Given the description of an element on the screen output the (x, y) to click on. 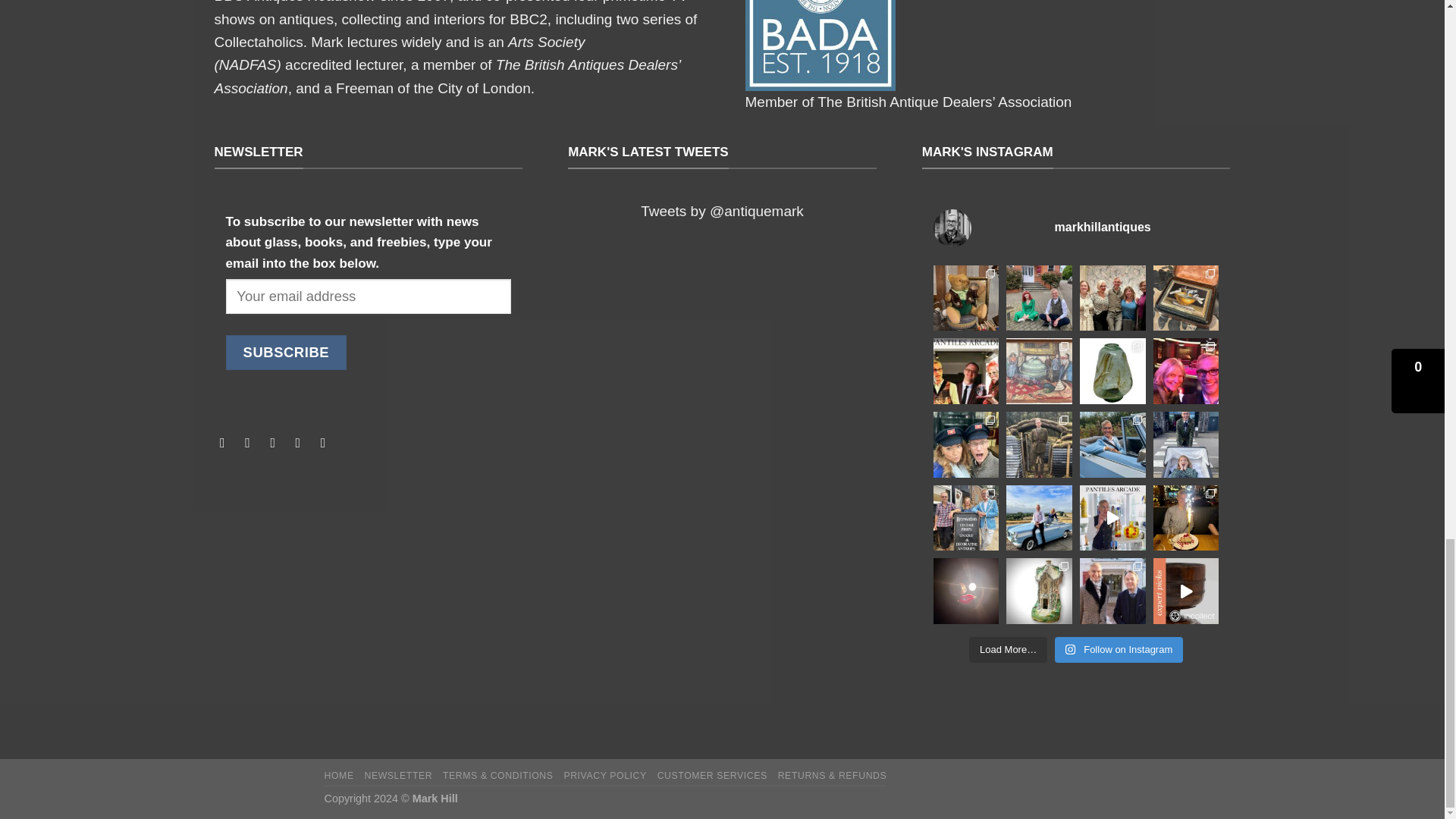
Subscribe (286, 352)
